Given the description of an element on the screen output the (x, y) to click on. 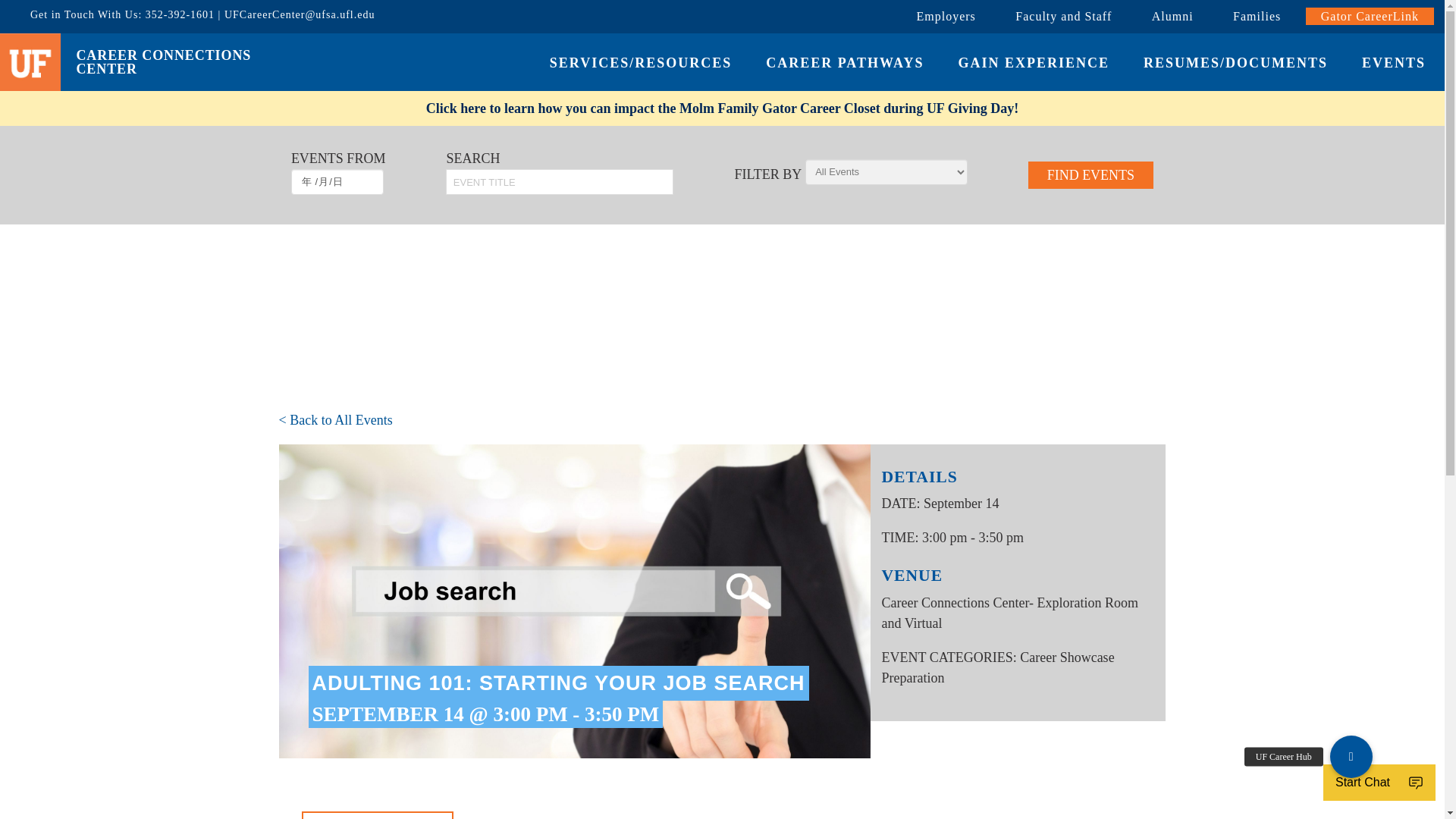
CAREER PATHWAYS (846, 63)
Gator CareerLink (1370, 16)
Families (1256, 16)
Faculty and Staff (1063, 16)
Export to Calendar (376, 815)
University of Florida, Career Connection Center (175, 62)
Employers (945, 16)
CAREER CONNECTIONS CENTER (175, 62)
Alumni (1172, 16)
